Given the description of an element on the screen output the (x, y) to click on. 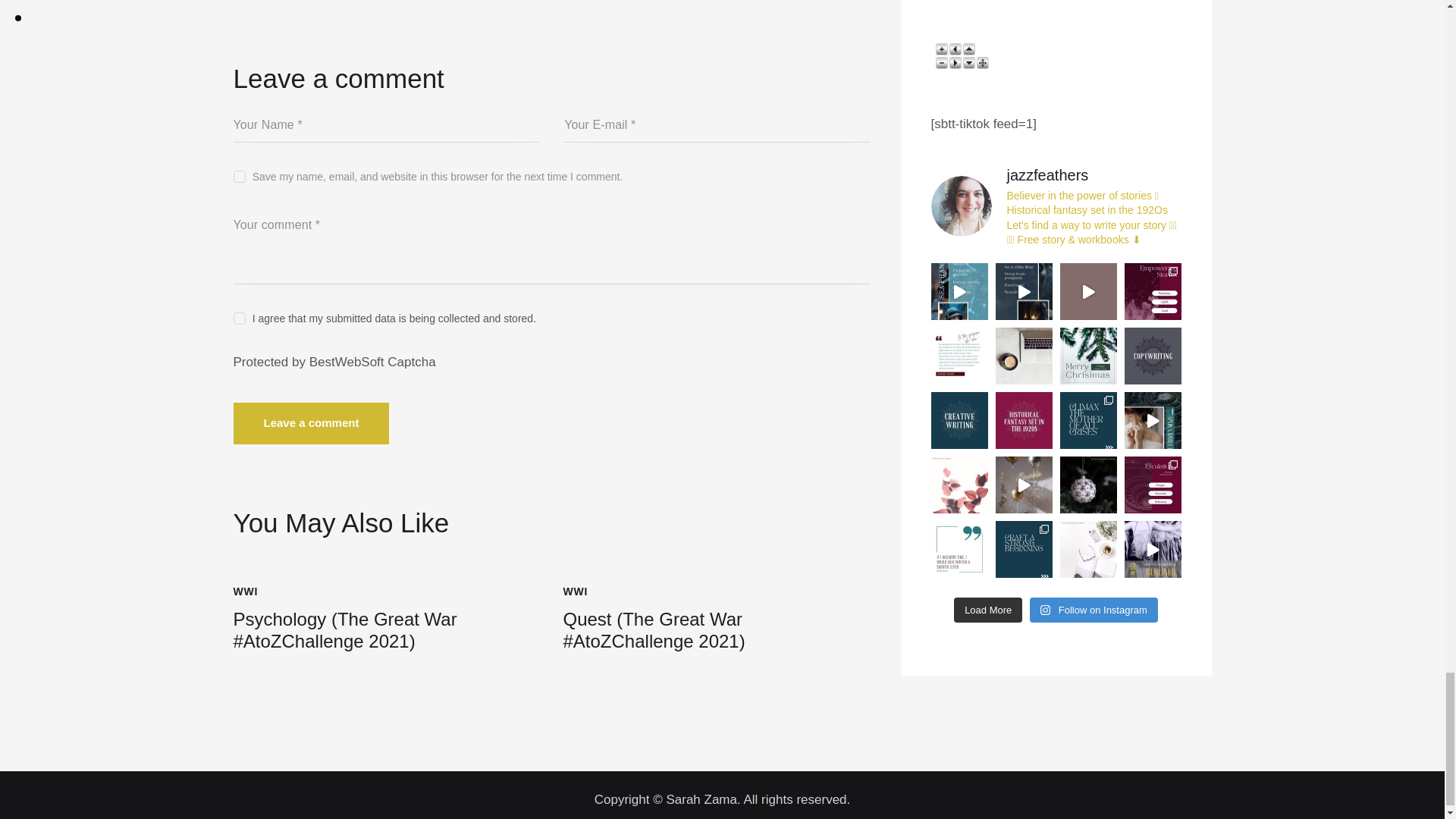
Leave a comment (311, 423)
1 (551, 315)
yes (237, 173)
